Given the description of an element on the screen output the (x, y) to click on. 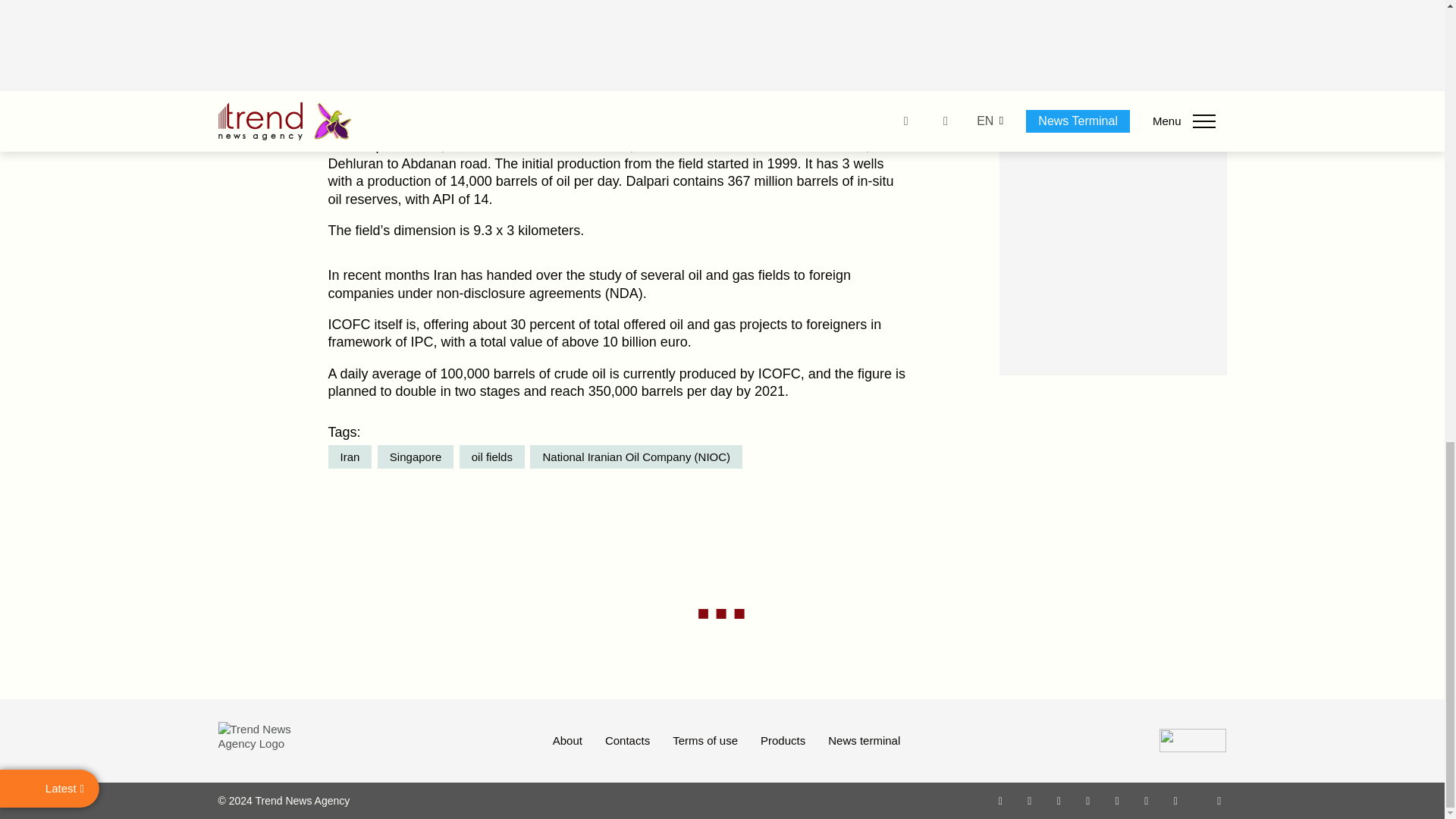
Android App (1176, 800)
Facebook (1029, 800)
LinkedIn (1146, 800)
Youtube (1088, 800)
Twitter (1059, 800)
Telegram (1117, 800)
RSS Feed (1219, 800)
Whatsapp (1000, 800)
